Given the description of an element on the screen output the (x, y) to click on. 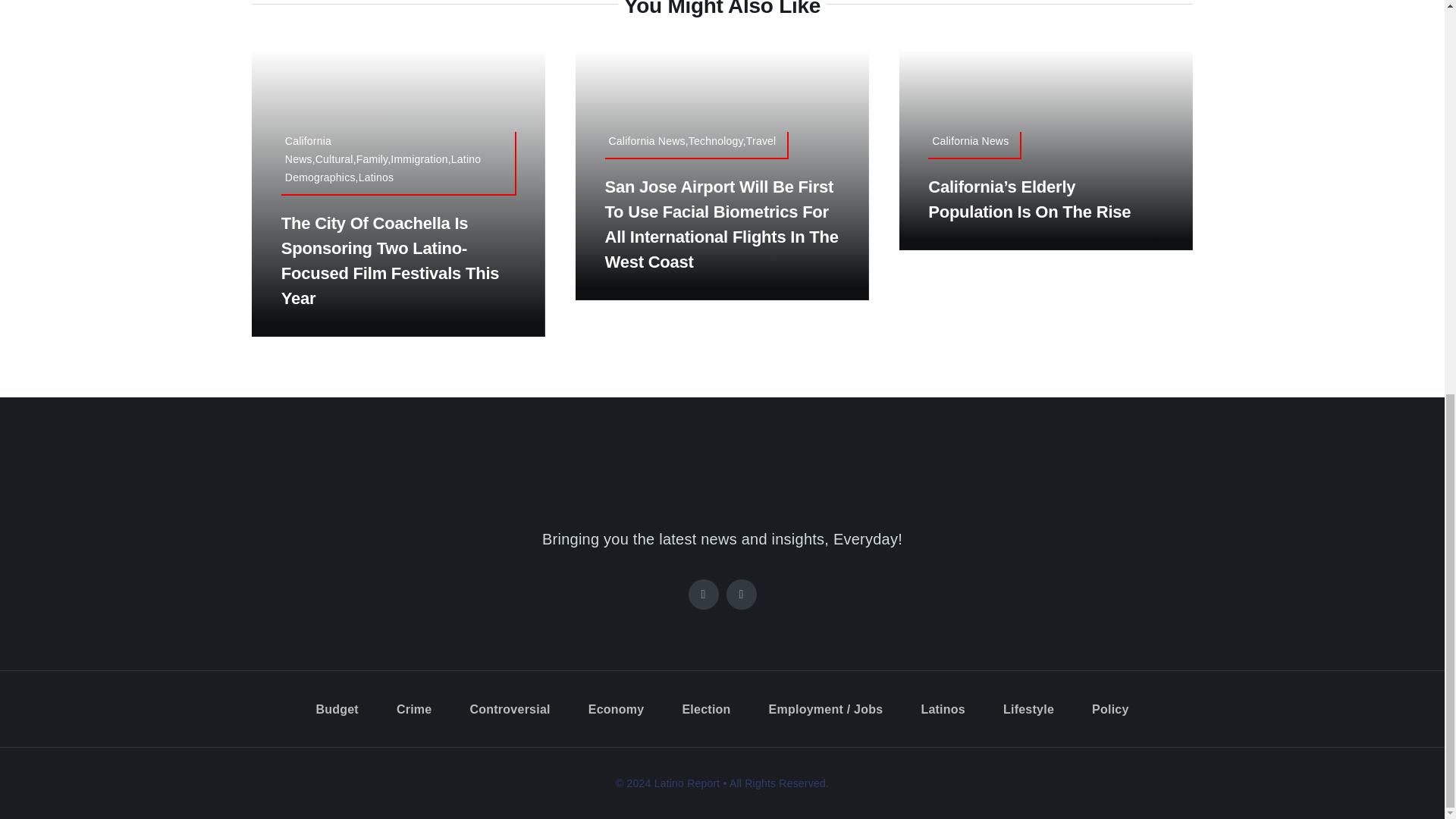
X (741, 594)
California News,Technology,Travel (697, 144)
Facebook (703, 594)
